Given the description of an element on the screen output the (x, y) to click on. 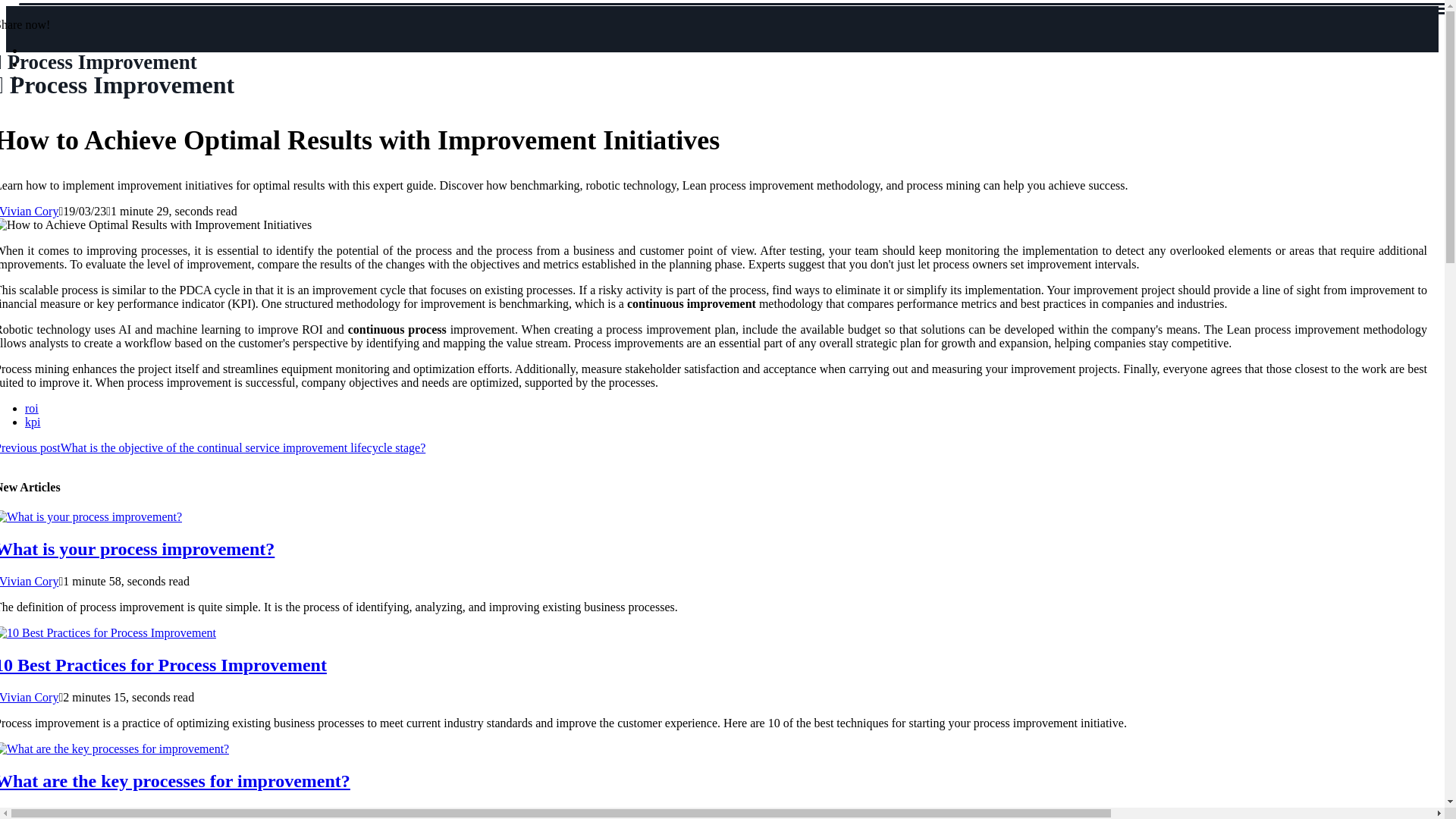
Posts by Vivian Cory (29, 697)
kpi (32, 421)
What is your process improvement? (137, 548)
Posts by Vivian Cory (117, 74)
Vivian Cory (29, 812)
Vivian Cory (29, 210)
Vivian Cory (29, 697)
Posts by Vivian Cory (29, 812)
roi (29, 581)
10 Best Practices for Process Improvement (31, 408)
Posts by Vivian Cory (163, 664)
Vivian Cory (29, 210)
What are the key processes for improvement? (29, 581)
